Given the description of an element on the screen output the (x, y) to click on. 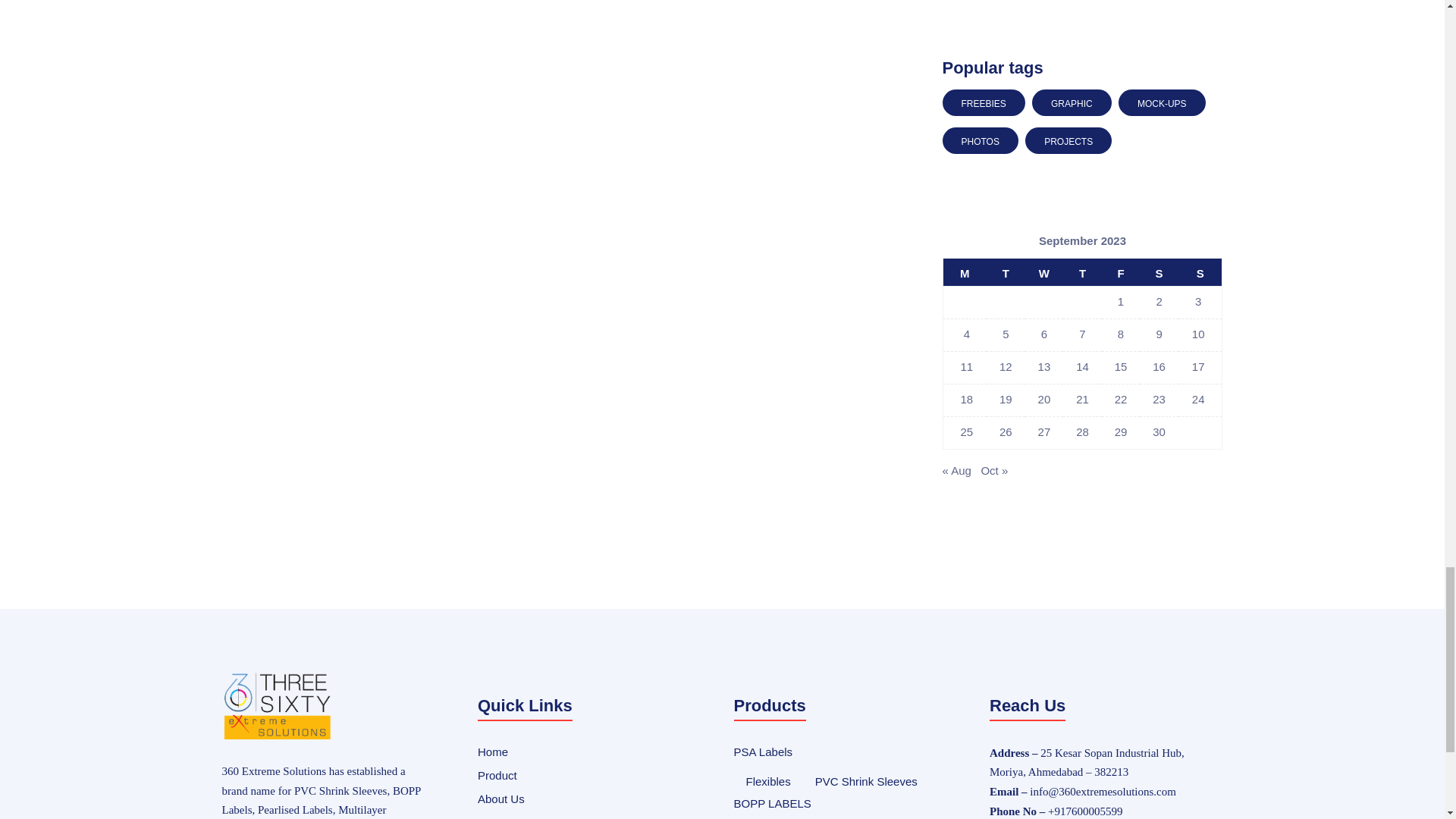
Monday (964, 272)
Thursday (1082, 272)
Wednesday (1044, 272)
Tuesday (1006, 272)
Sunday (1200, 272)
Saturday (1158, 272)
Friday (1121, 272)
